Given the description of an element on the screen output the (x, y) to click on. 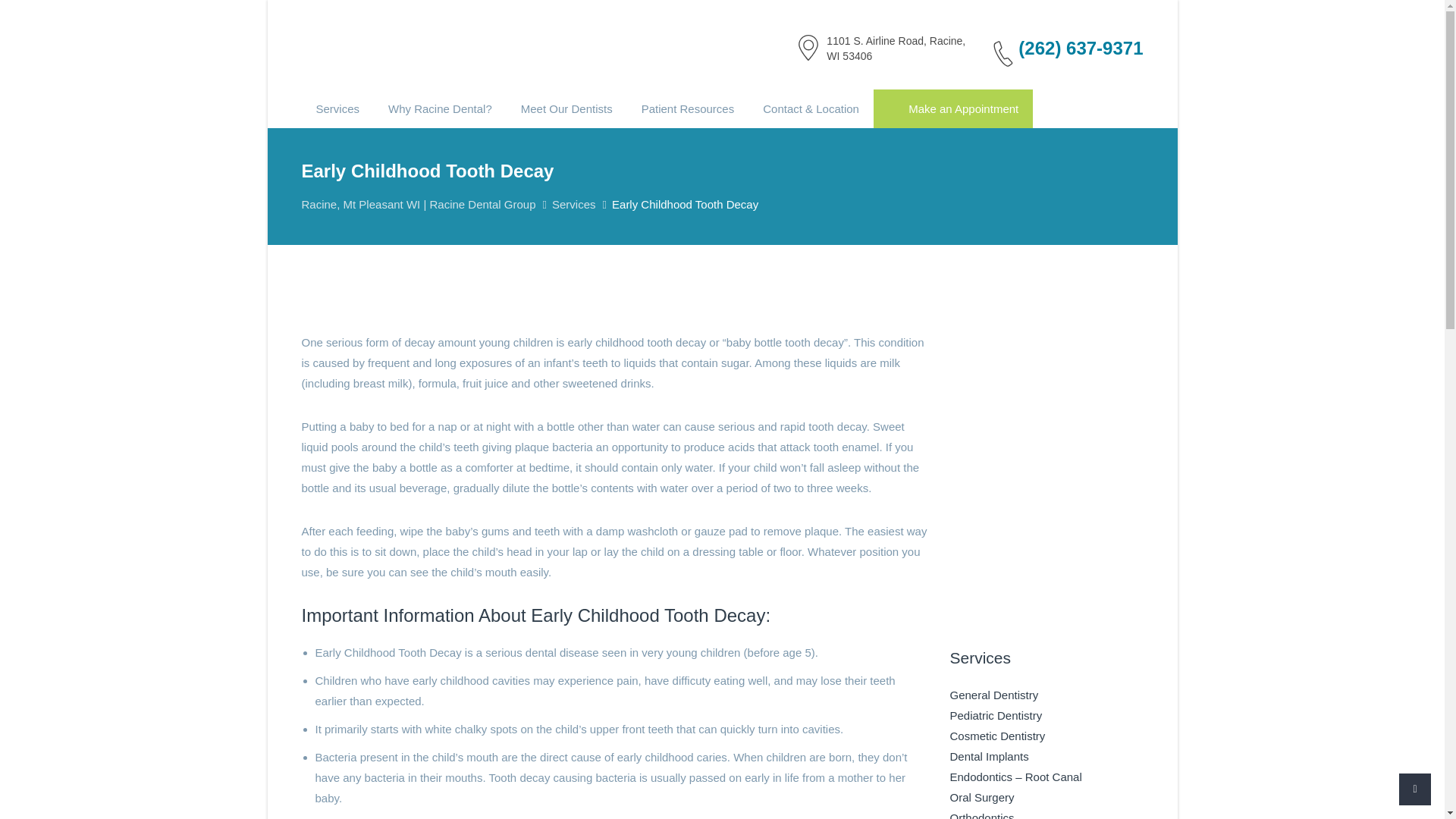
Services (337, 108)
